Given the description of an element on the screen output the (x, y) to click on. 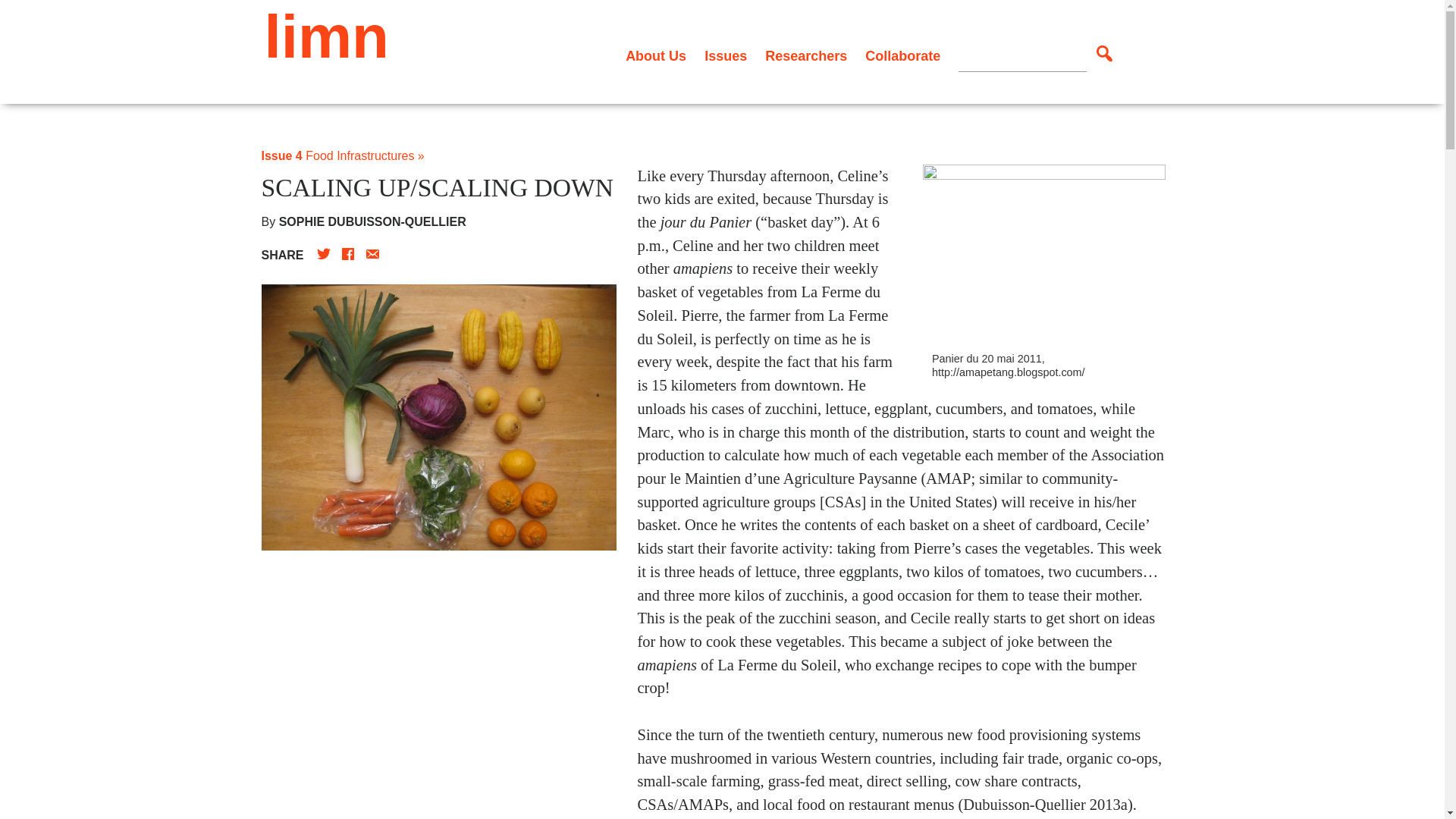
SOPHIE DUBUISSON-QUELLIER (372, 221)
limn (325, 36)
Issues (725, 56)
About Us (655, 56)
Researchers (806, 56)
Collaborate (902, 56)
